Given the description of an element on the screen output the (x, y) to click on. 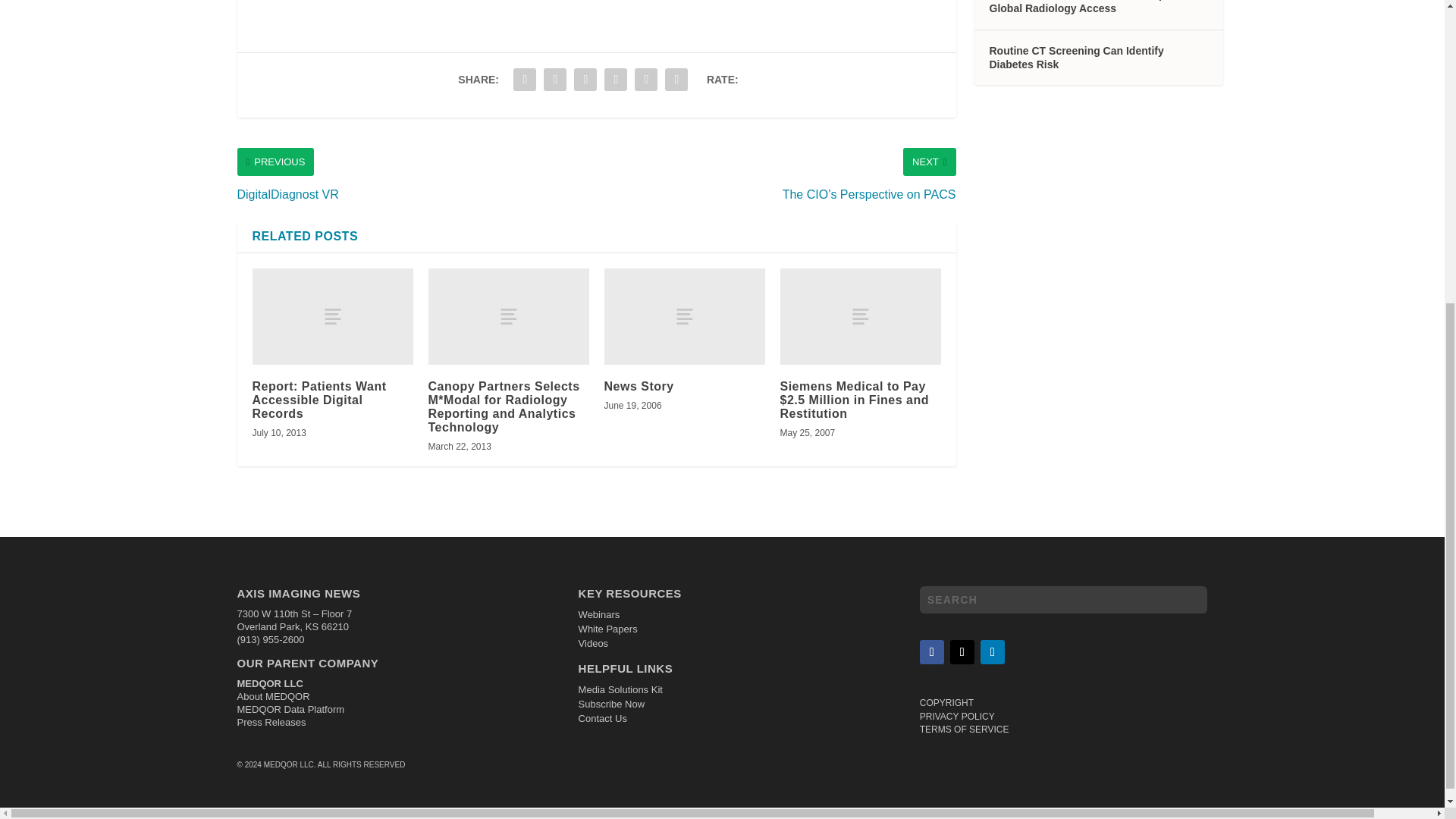
Share "DiagnosticPRO" via Facebook (524, 79)
Follow on LinkedIn (991, 651)
Report: Patients Want Accessible Digital Records (318, 400)
Share "DiagnosticPRO" via LinkedIn (584, 79)
News Story (684, 316)
Follow on Facebook (931, 651)
Share "DiagnosticPRO" via Twitter (555, 79)
Share "DiagnosticPRO" via Buffer (614, 79)
Share "DiagnosticPRO" via Print (676, 79)
Follow on X (962, 651)
